Given the description of an element on the screen output the (x, y) to click on. 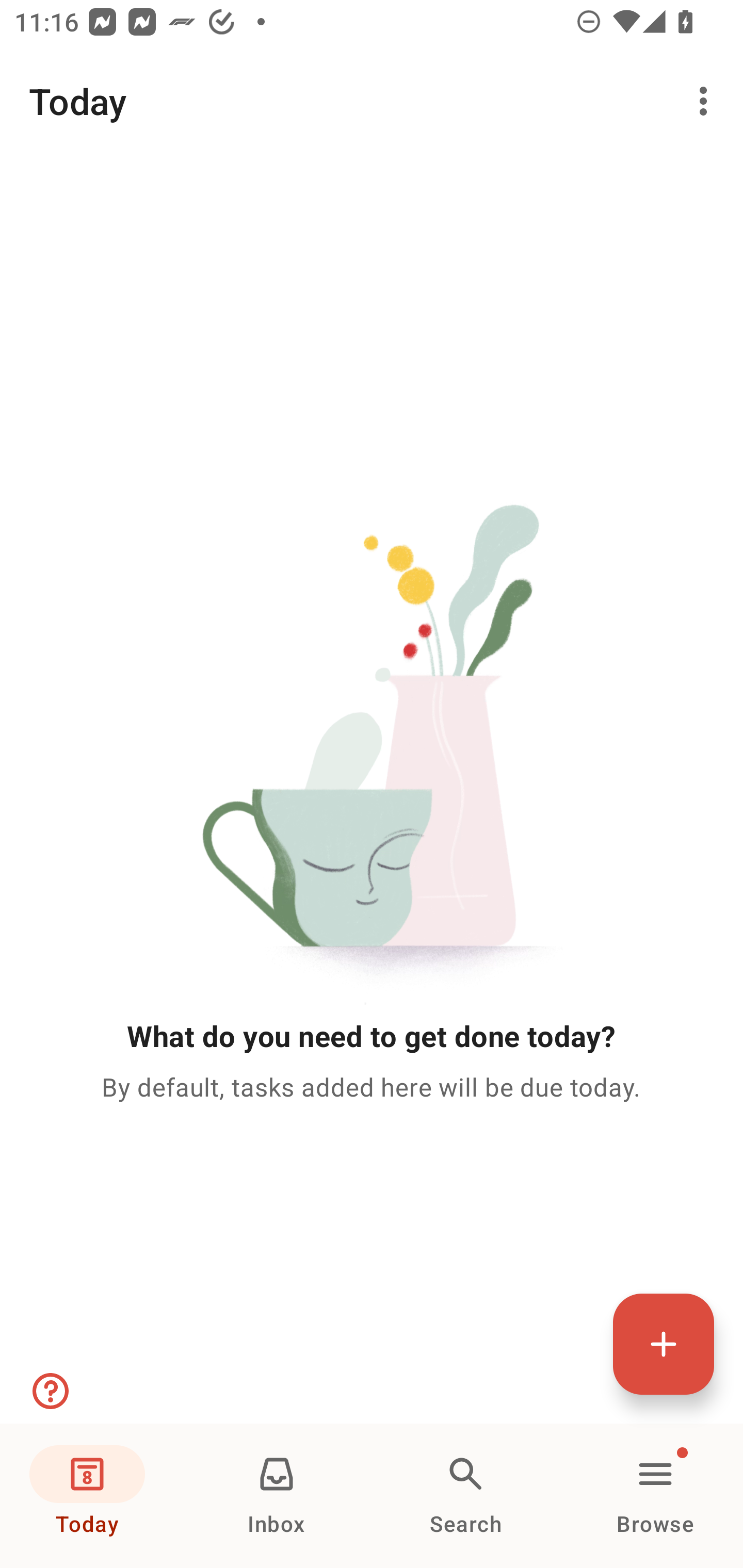
Today More options (371, 100)
More options (706, 101)
Quick add (663, 1343)
How to plan your day (48, 1390)
Inbox (276, 1495)
Search (465, 1495)
Browse (655, 1495)
